Given the description of an element on the screen output the (x, y) to click on. 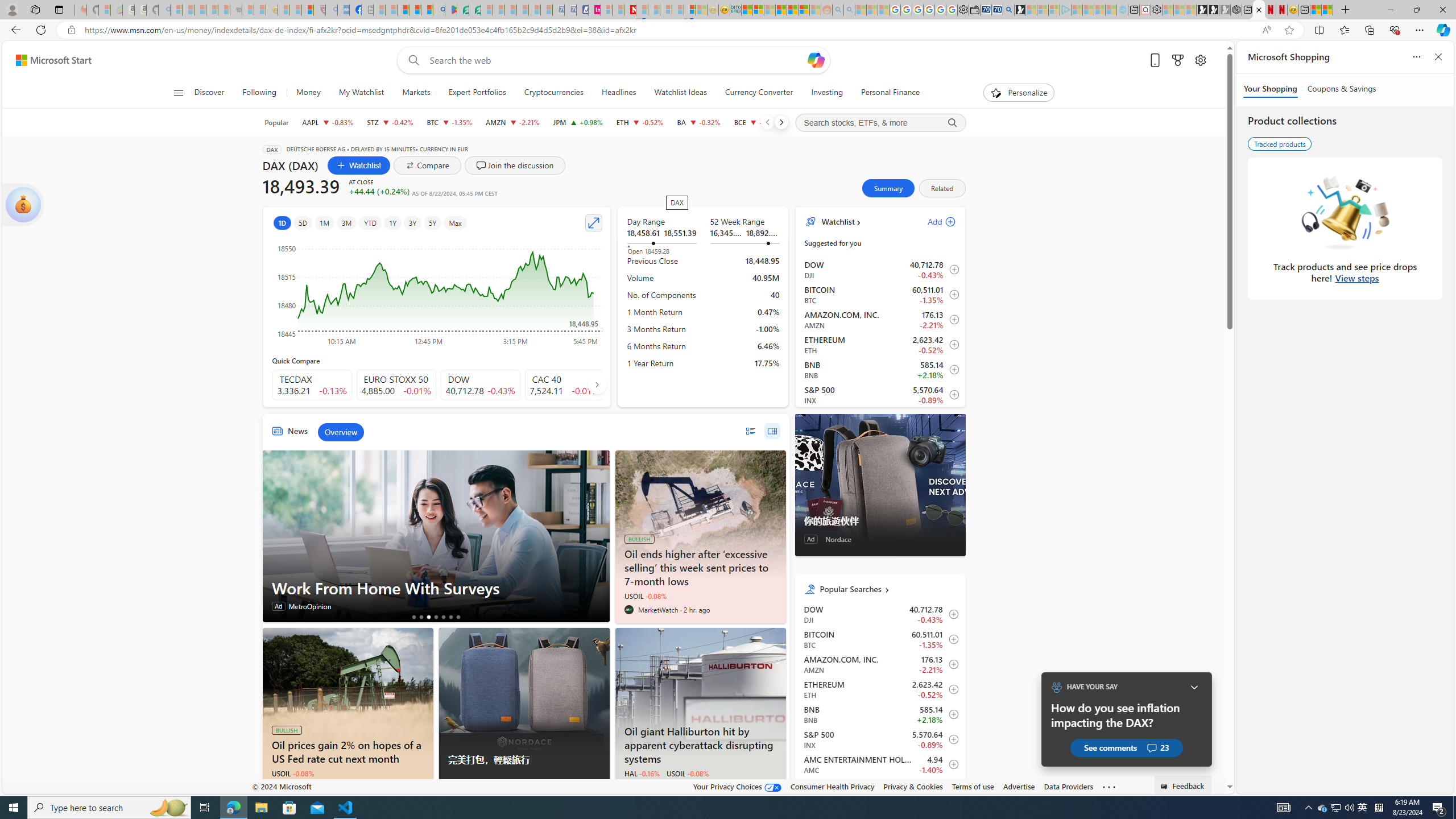
1D (282, 223)
Watchlist Ideas (680, 92)
grid layout (772, 430)
BA THE BOEING COMPANY decrease 172.87 -0.56 -0.32% (698, 122)
Class: recharts-surface (437, 291)
